Given the description of an element on the screen output the (x, y) to click on. 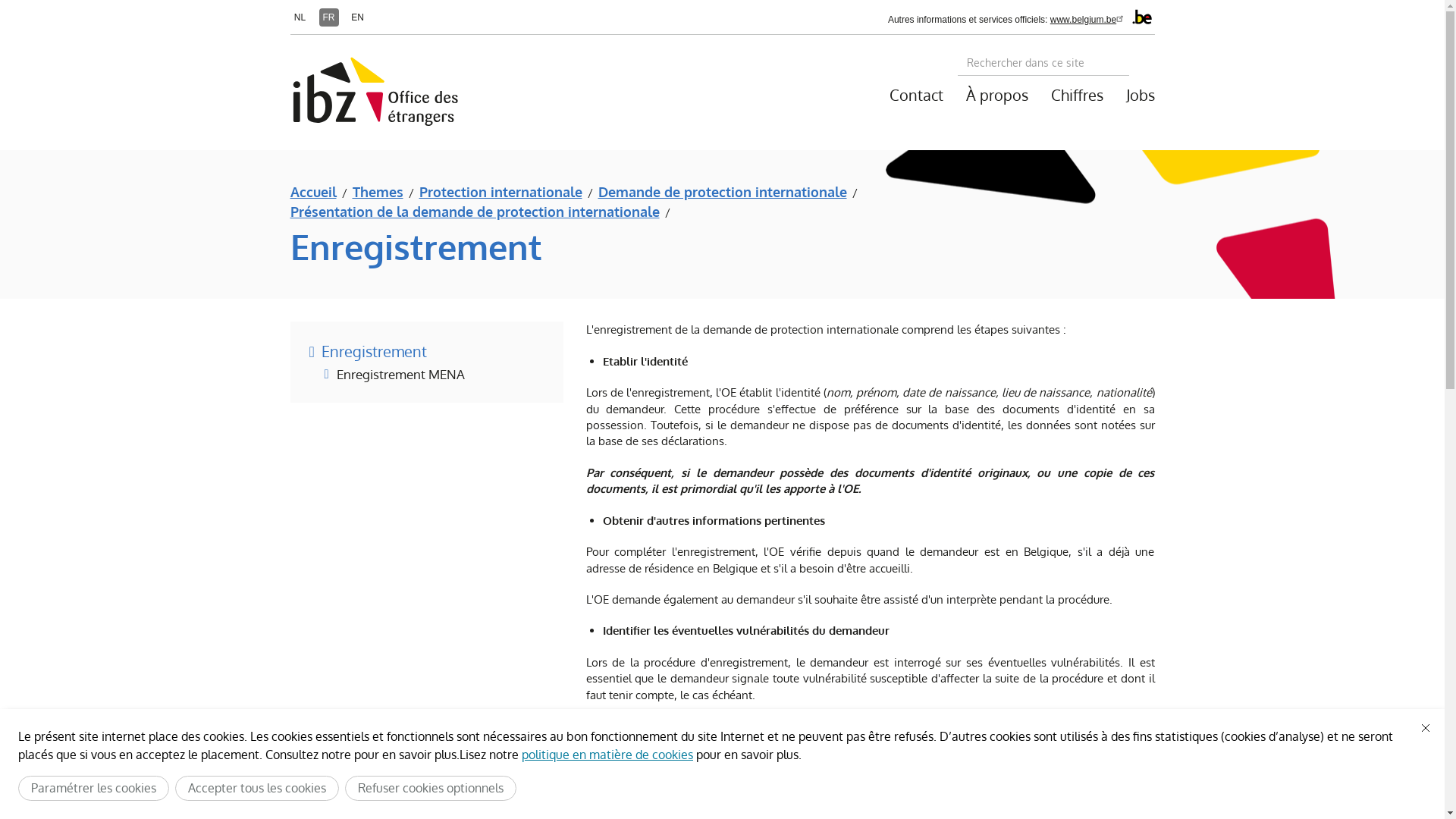
Skip to main content Element type: text (0, 0)
Enregistrement MENA Element type: text (394, 374)
Refuser cookies optionnels Element type: text (430, 787)
Facebook - Instagram - Linkedin Element type: text (412, 782)
Politique Liens externes Element type: text (670, 768)
www.belgium.be(link is external) Element type: text (1088, 19)
Protection internationale Element type: text (499, 192)
Continuer en
FR Element type: text (328, 17)
Keep going in
EN Element type: text (357, 17)
Conditions d'utilisation Element type: text (453, 755)
Ga verder in het
NL Element type: text (299, 17)
Enregistrement Element type: text (367, 351)
Office des Etrangers Element type: text (427, 92)
Contact Element type: text (916, 94)
Chiffres Element type: text (1075, 94)
Fermer Element type: hover (1425, 727)
Jobs Element type: text (1134, 94)
Accueil Element type: text (312, 192)
Accepter tous les cookies Element type: text (256, 787)
Apply Element type: text (1141, 62)
Themes Element type: text (376, 192)
Demande de protection internationale Element type: text (721, 192)
